Given the description of an element on the screen output the (x, y) to click on. 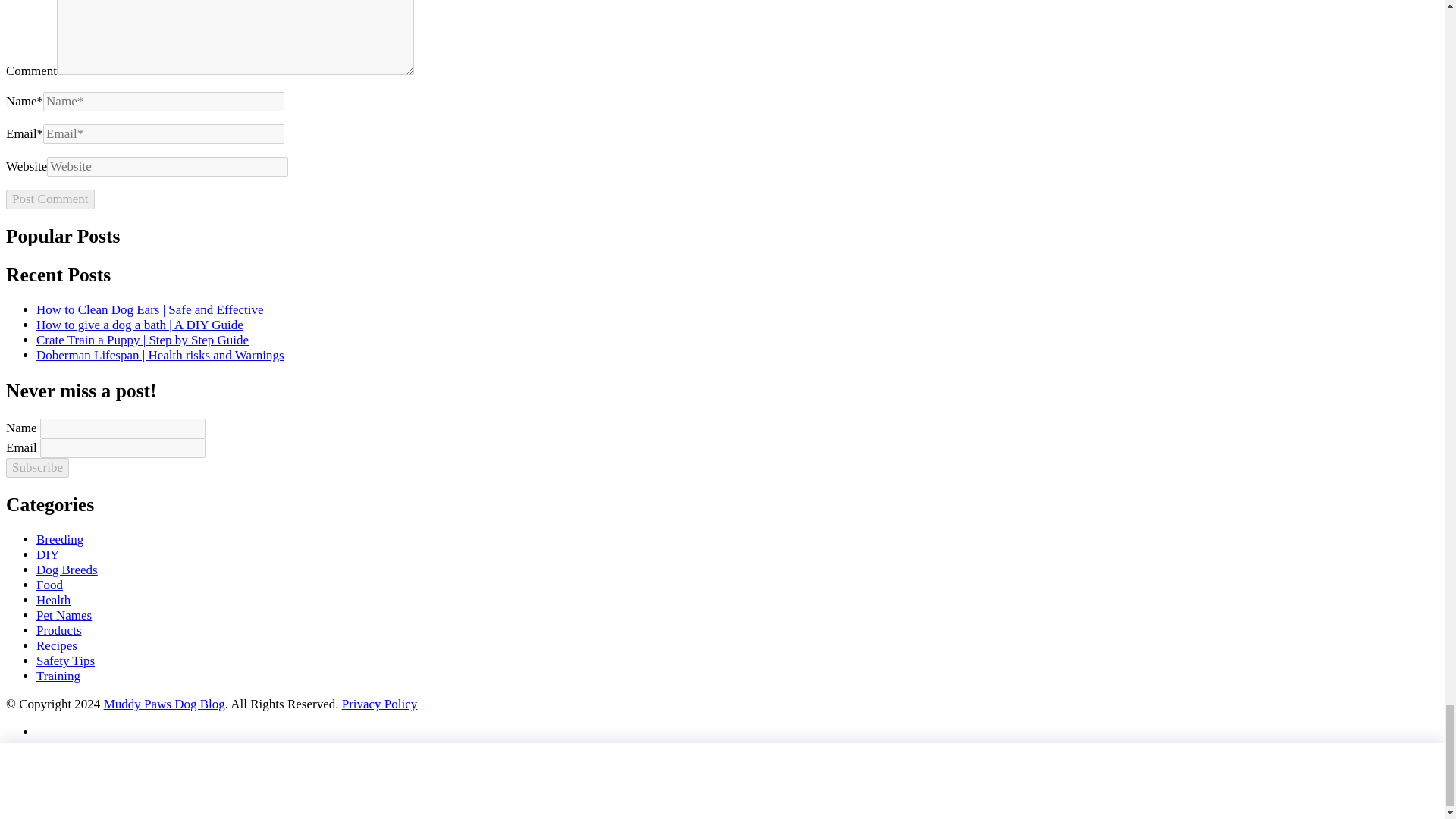
Post Comment (49, 199)
Subscribe (36, 467)
